Given the description of an element on the screen output the (x, y) to click on. 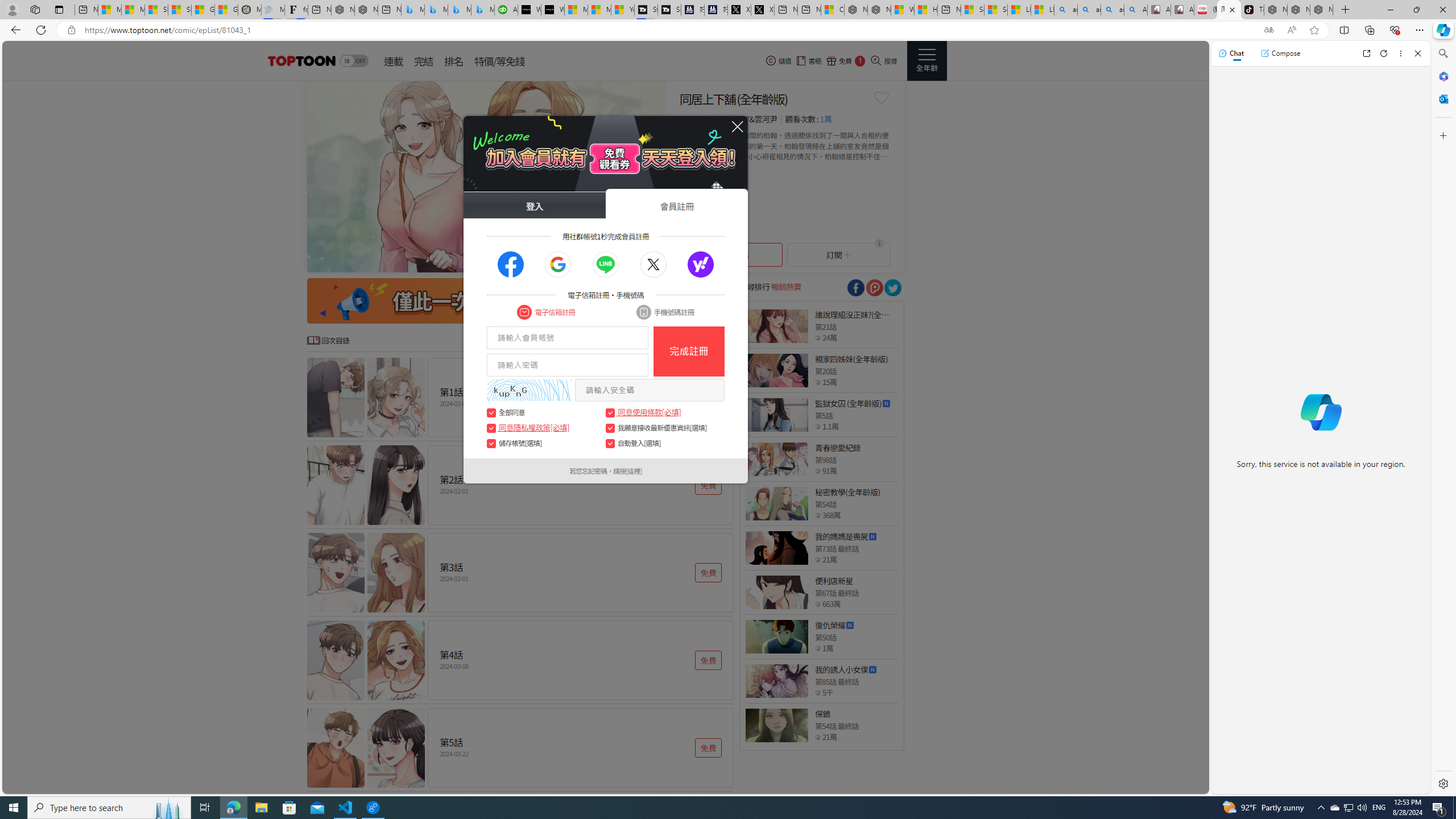
All Cubot phones (1182, 9)
Open link in new tab (1366, 53)
Close tab (1232, 9)
Microsoft Start Sports (575, 9)
Settings and more (Alt+F) (1419, 29)
